Given the description of an element on the screen output the (x, y) to click on. 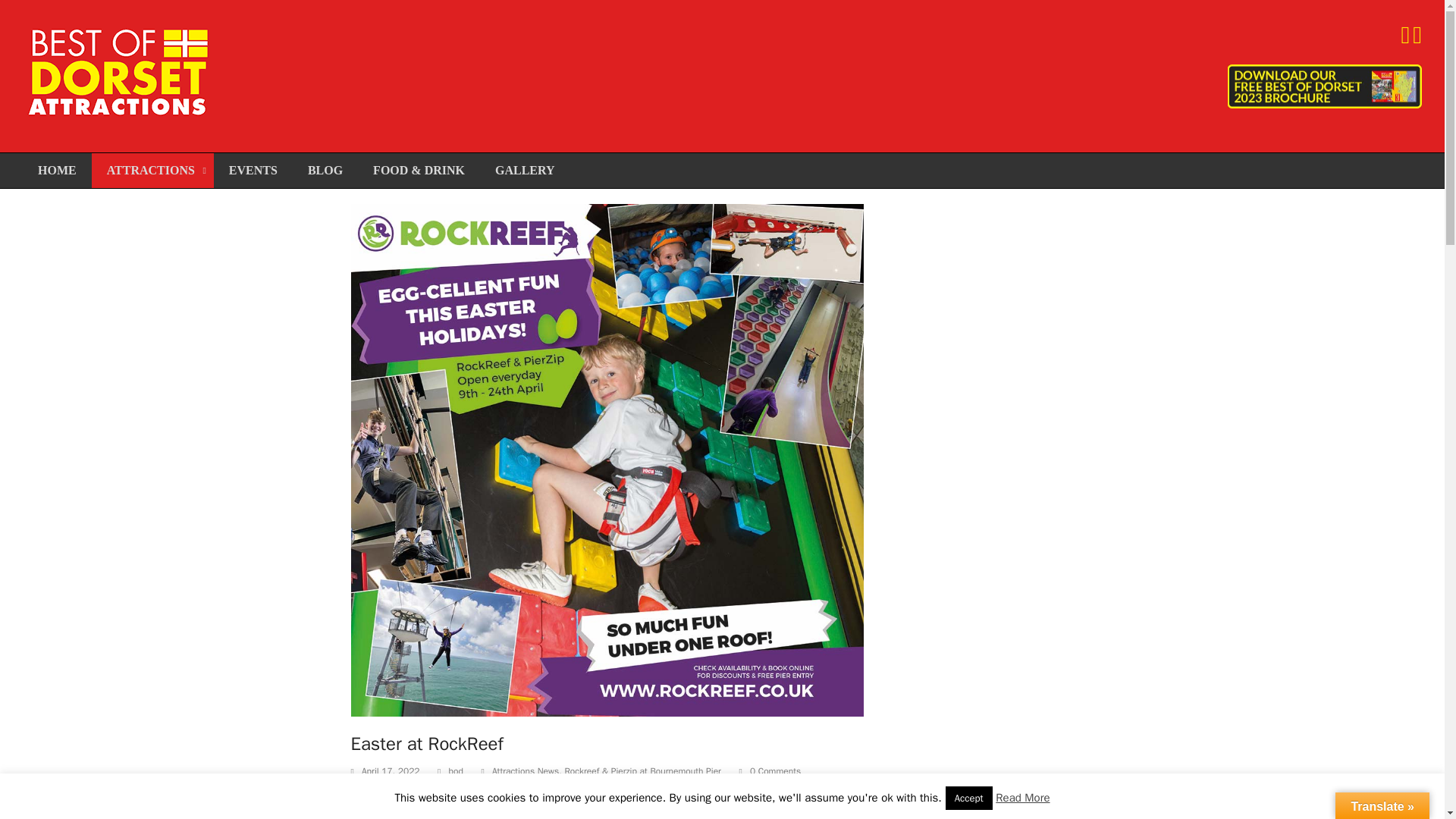
Posts by bod (455, 770)
BLOG (325, 170)
ATTRACTIONS (152, 170)
0 Comments (770, 771)
HOME (57, 170)
EVENTS (253, 170)
GALLERY (525, 170)
